Given the description of an element on the screen output the (x, y) to click on. 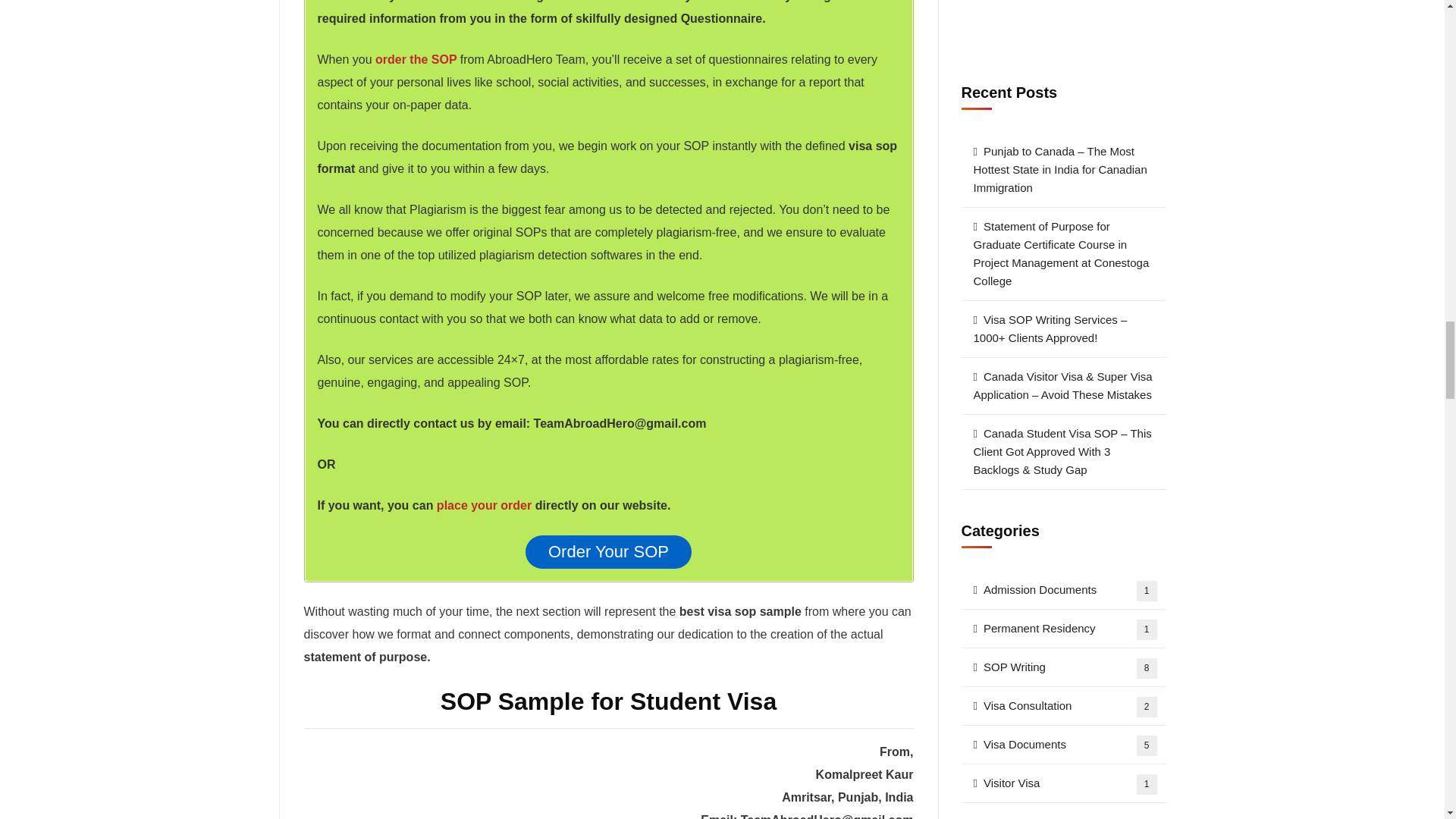
Order Your SOP (608, 551)
order the SOP (417, 59)
place your order (483, 504)
